Given the description of an element on the screen output the (x, y) to click on. 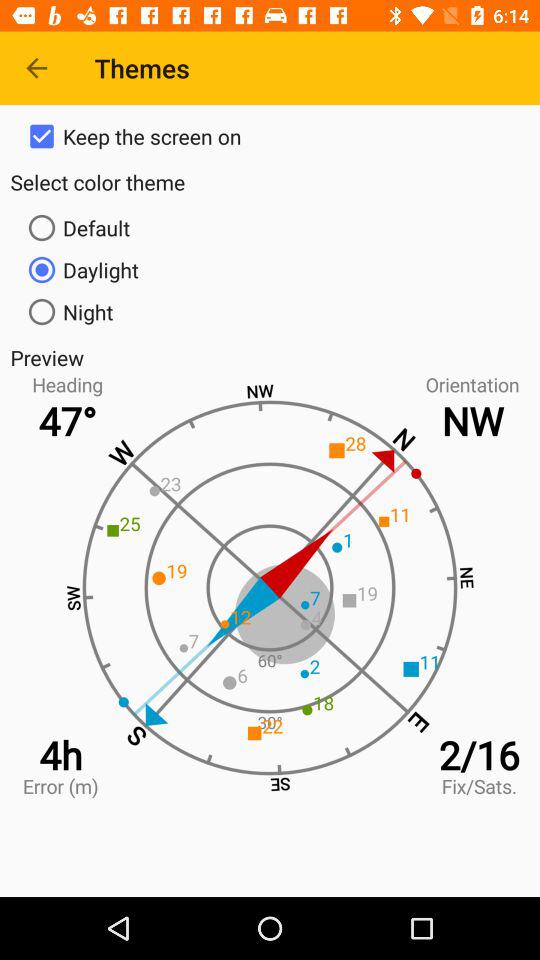
launch item above daylight icon (270, 228)
